Given the description of an element on the screen output the (x, y) to click on. 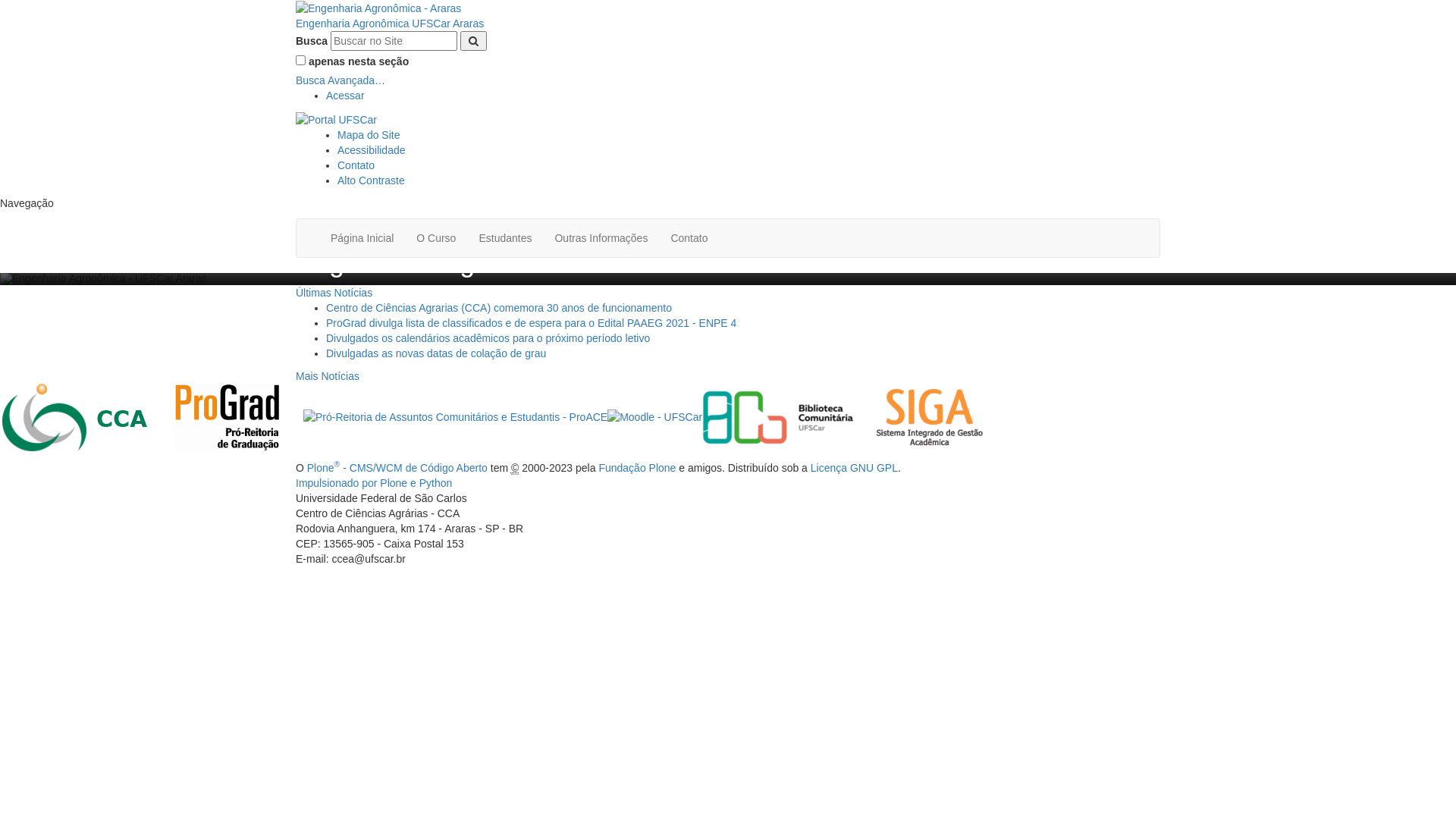
O Curso Element type: text (435, 238)
Buscar no Site Element type: hover (393, 40)
Alto Contraste Element type: text (370, 180)
Portal UFSCar Element type: hover (335, 118)
Acessibilidade Element type: text (371, 150)
Mapa do Site Element type: text (368, 134)
Contato Element type: text (688, 238)
Acessar Element type: text (345, 95)
Contato Element type: text (355, 165)
Estudantes Element type: text (504, 238)
Impulsionado por Plone e Python Element type: text (373, 482)
